Given the description of an element on the screen output the (x, y) to click on. 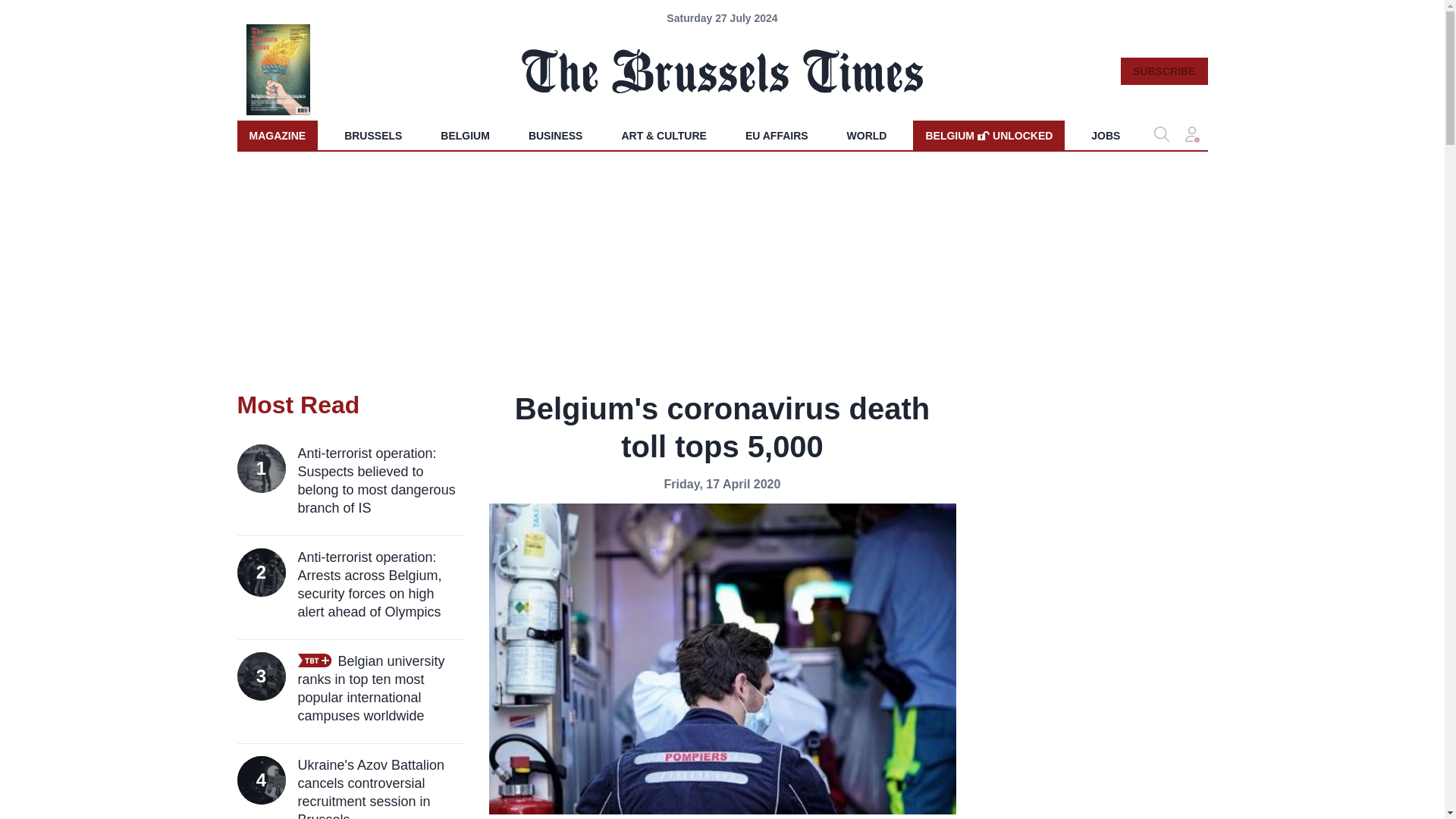
JOBS (1105, 135)
BUSINESS (555, 135)
WORLD (866, 135)
BELGIUM (465, 135)
BRUSSELS (372, 135)
EU AFFAIRS (777, 135)
MAGAZINE (276, 135)
SUBSCRIBE (1164, 71)
